Given the description of an element on the screen output the (x, y) to click on. 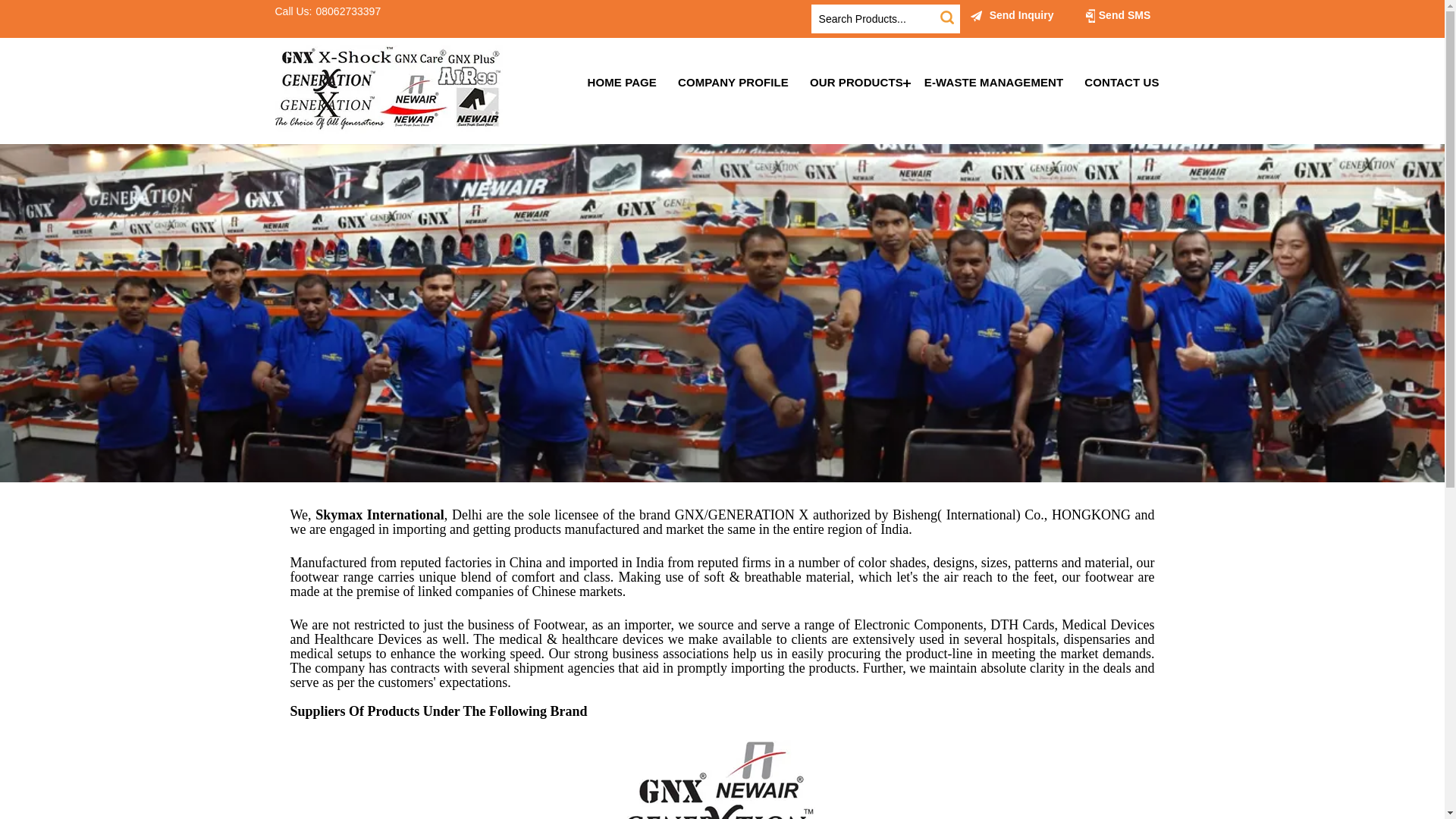
Skymax International (388, 89)
HOME PAGE (621, 81)
COMPANY PROFILE (732, 81)
OUR PRODUCTS (856, 81)
submit (946, 17)
Search Products... (875, 18)
Search (946, 17)
Send Inquiry (1012, 15)
Send SMS (1117, 15)
Send Inquiry (976, 15)
